Given the description of an element on the screen output the (x, y) to click on. 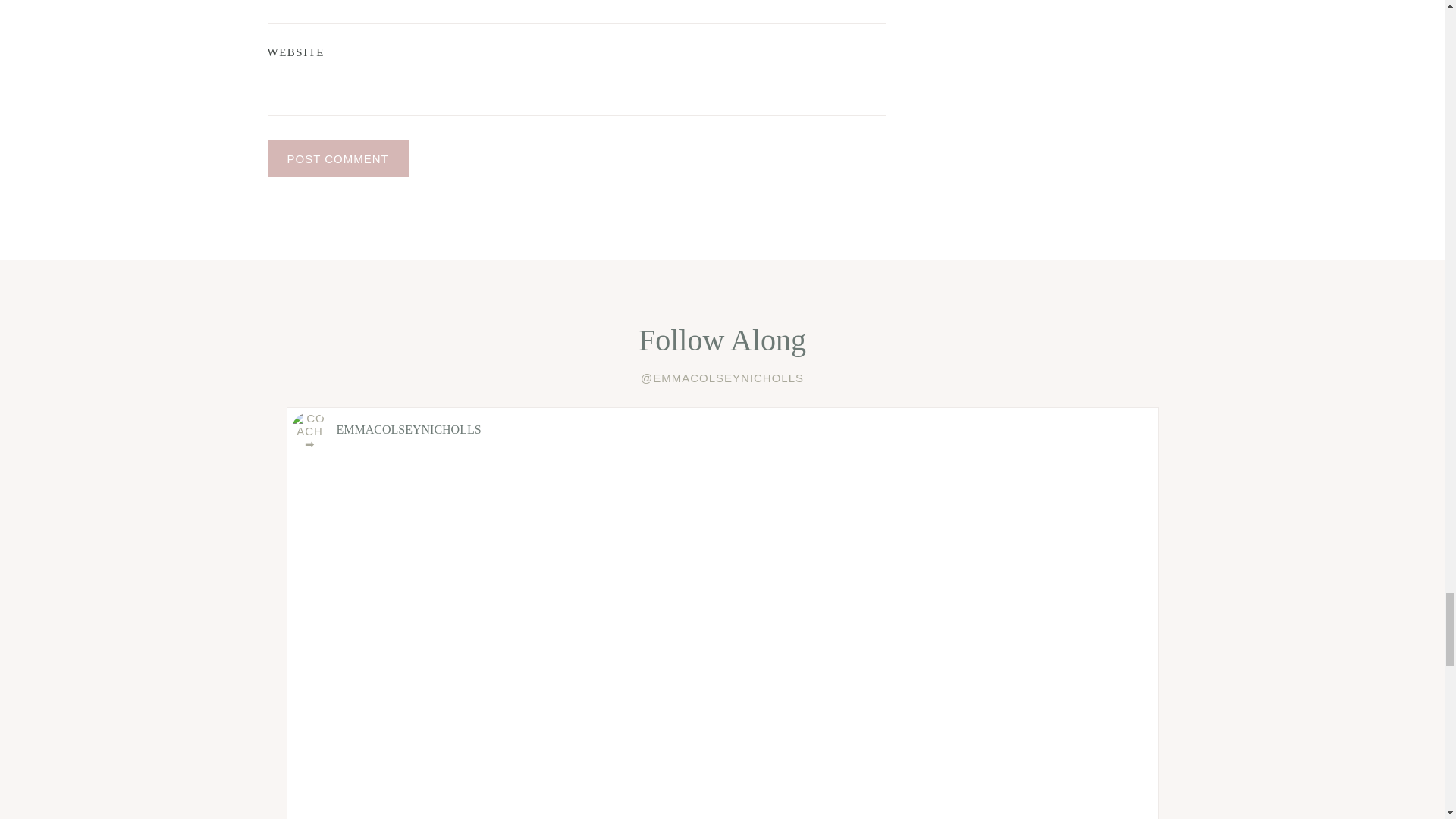
Post Comment (336, 158)
